Given the description of an element on the screen output the (x, y) to click on. 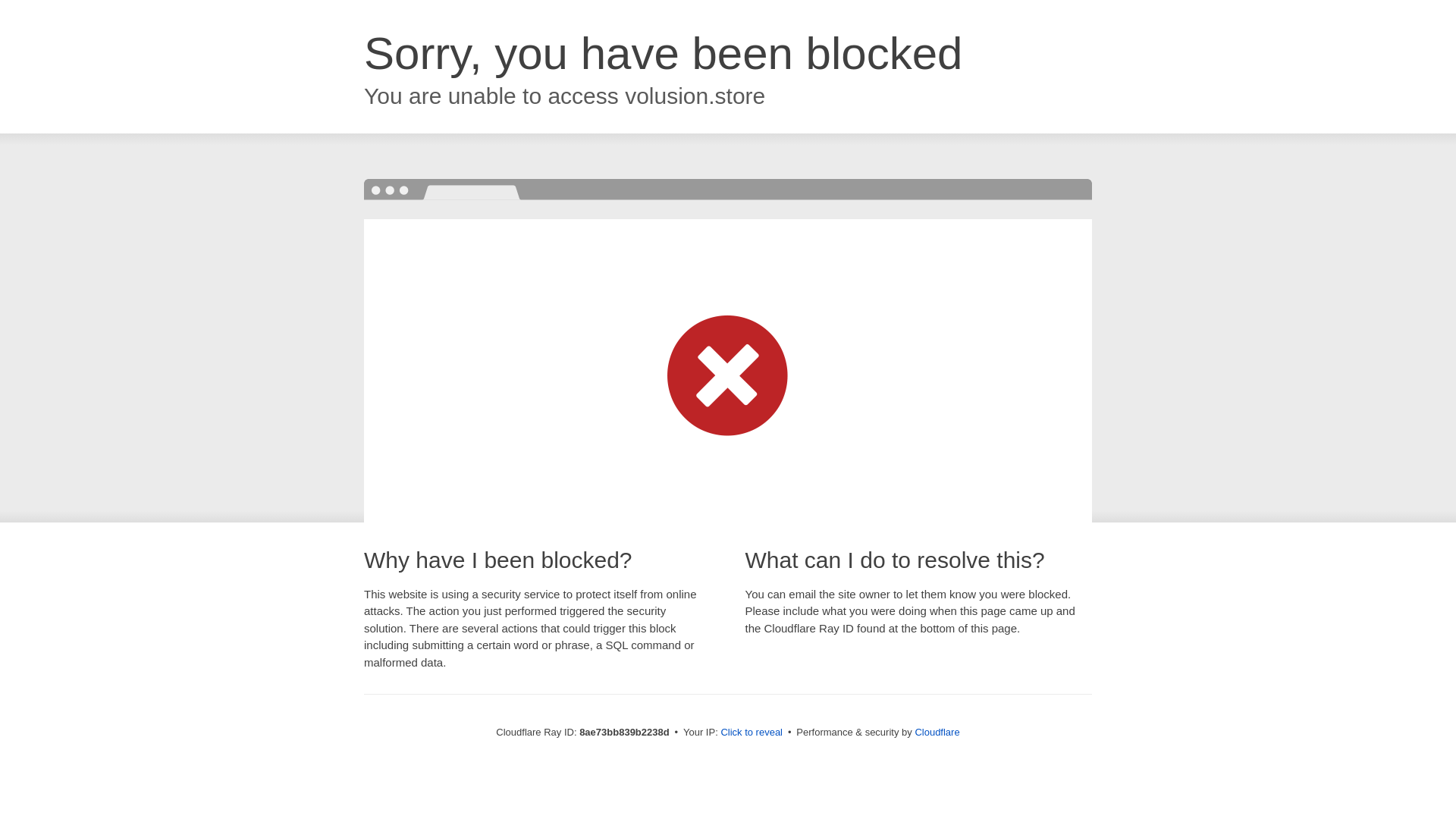
Click to reveal (751, 732)
Cloudflare (936, 731)
